Given the description of an element on the screen output the (x, y) to click on. 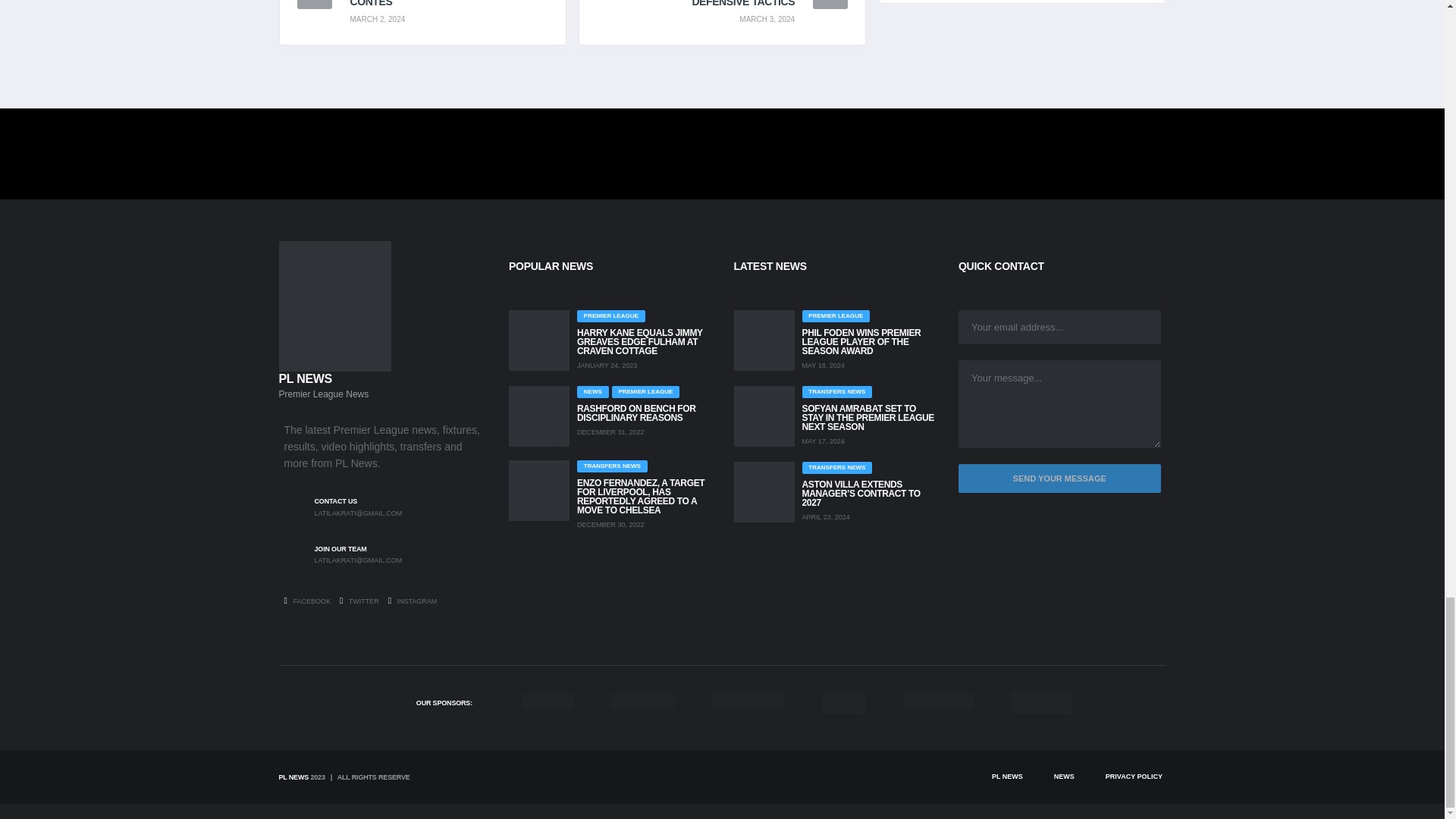
Send Your Message (1059, 478)
